Given the description of an element on the screen output the (x, y) to click on. 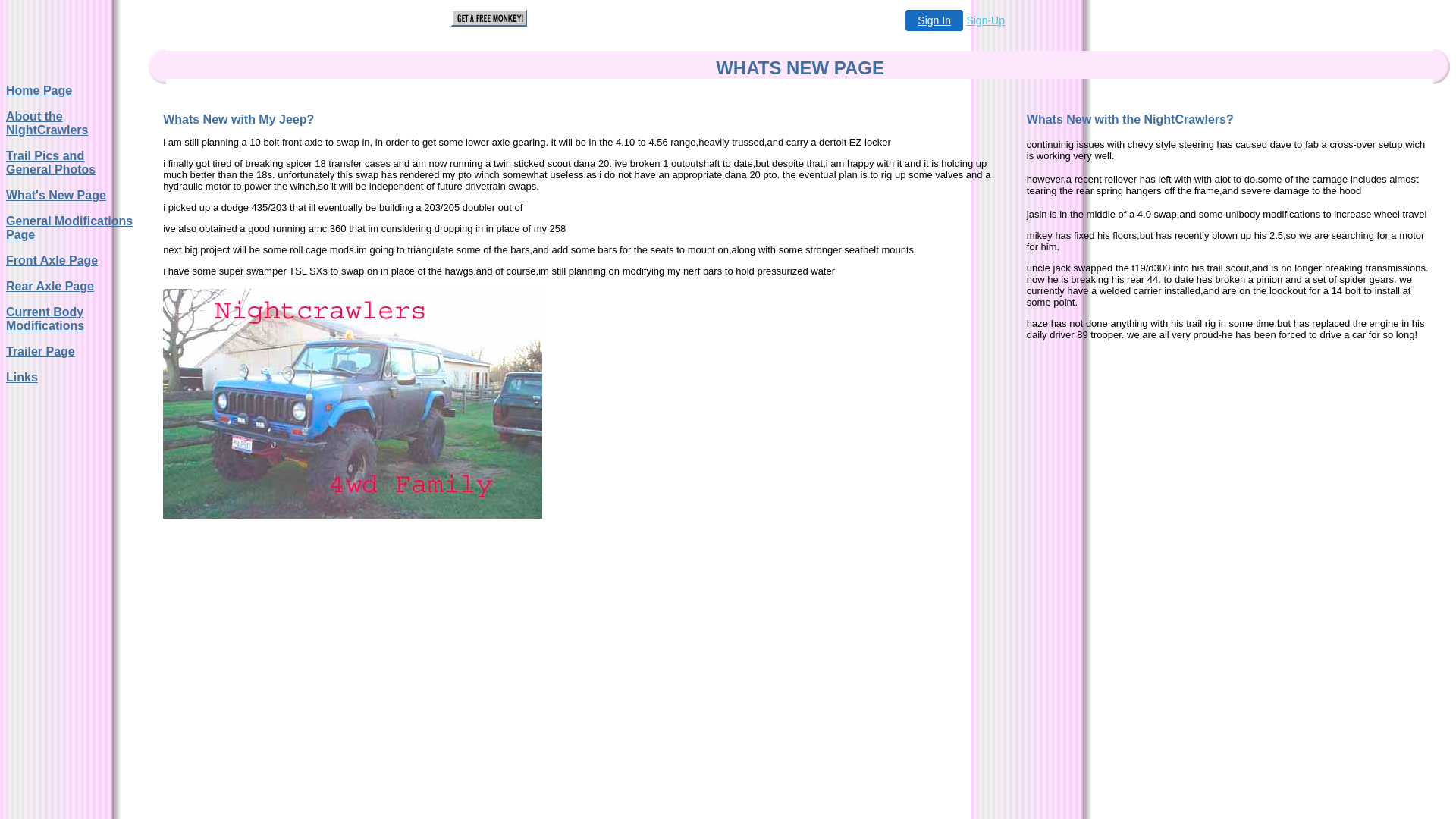
About the NightCrawlers Element type: text (46, 122)
Home Page Element type: text (39, 90)
General Modifications Page Element type: text (69, 227)
Front Axle Page Element type: text (51, 260)
Current Body Modifications Element type: text (45, 318)
Trail Pics and General Photos Element type: text (50, 162)
Sign In Element type: text (934, 20)
What's New Page Element type: text (56, 194)
Links Element type: text (21, 376)
Rear Axle Page Element type: text (50, 285)
Sign-Up Element type: text (985, 20)
Trailer Page Element type: text (40, 351)
